Given the description of an element on the screen output the (x, y) to click on. 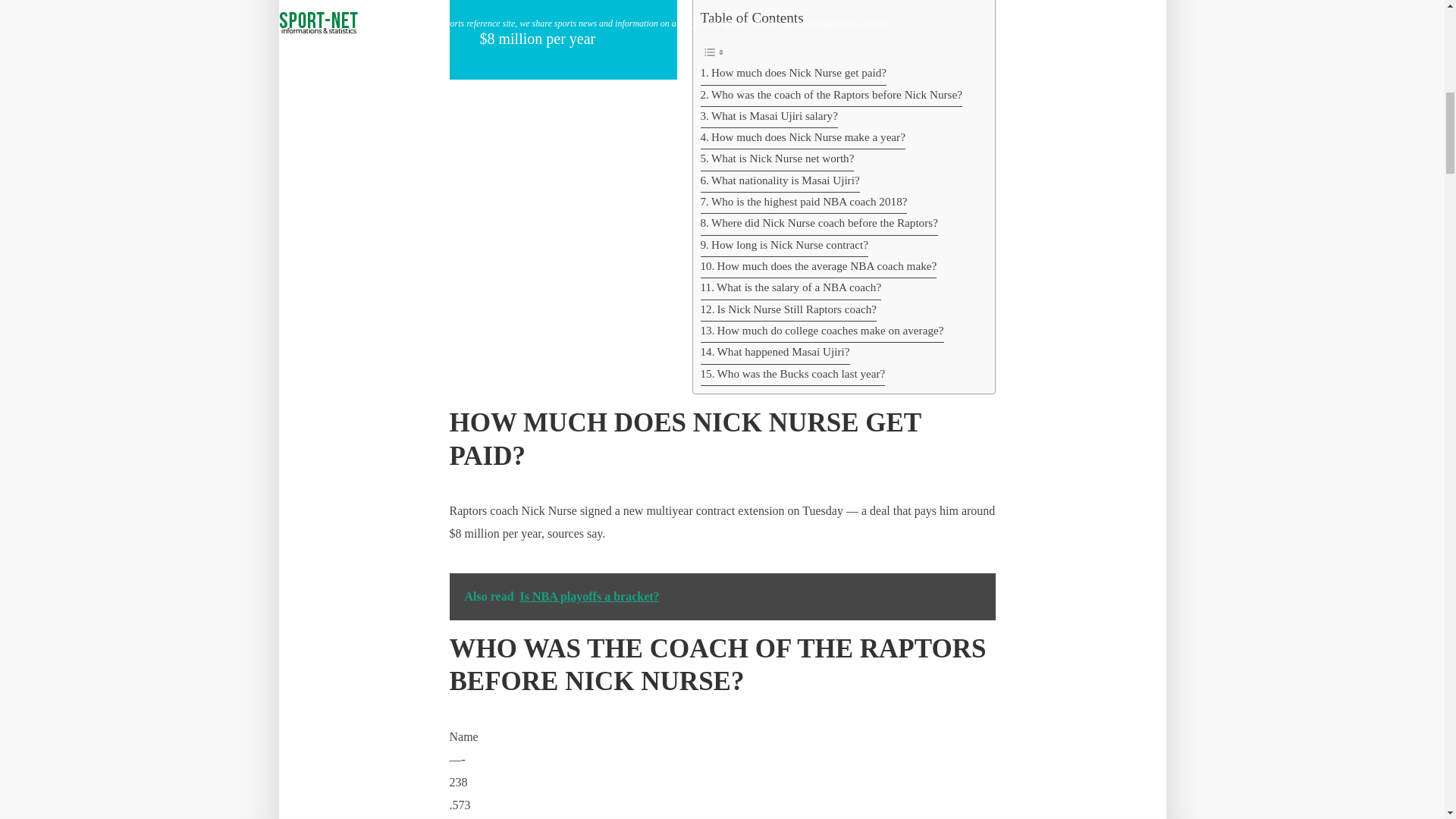
Is Nick Nurse Still Raptors coach? (788, 310)
Where did Nick Nurse coach before the Raptors? (818, 224)
How much does Nick Nurse get paid? (793, 74)
How long is Nick Nurse contract? (784, 246)
How much does Nick Nurse get paid? (793, 74)
What nationality is Masai Ujiri? (780, 181)
Is Nick Nurse Still Raptors coach? (788, 310)
Who was the coach of the Raptors before Nick Nurse? (831, 95)
How much does the average NBA coach make? (818, 267)
What happened Masai Ujiri? (775, 353)
What is Nick Nurse net worth? (777, 159)
How much does Nick Nurse make a year? (802, 138)
How much does Nick Nurse make a year? (802, 138)
What is the salary of a NBA coach? (791, 288)
Who is the highest paid NBA coach 2018? (803, 202)
